Given the description of an element on the screen output the (x, y) to click on. 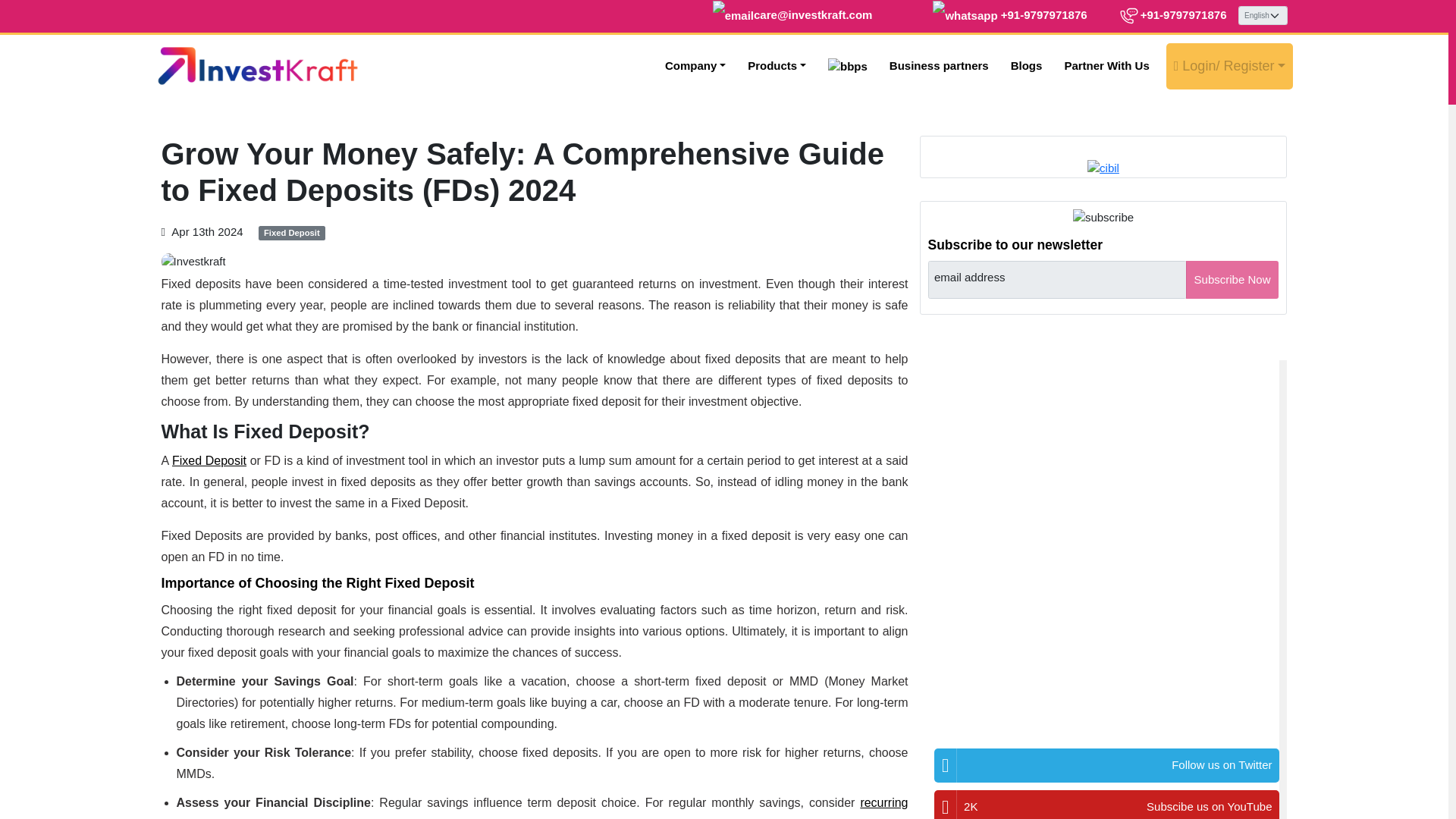
Business partners (938, 66)
Partner With Us (1106, 66)
Fixed Deposit (291, 233)
Blogs (1027, 66)
Products (776, 66)
Company (694, 66)
